Given the description of an element on the screen output the (x, y) to click on. 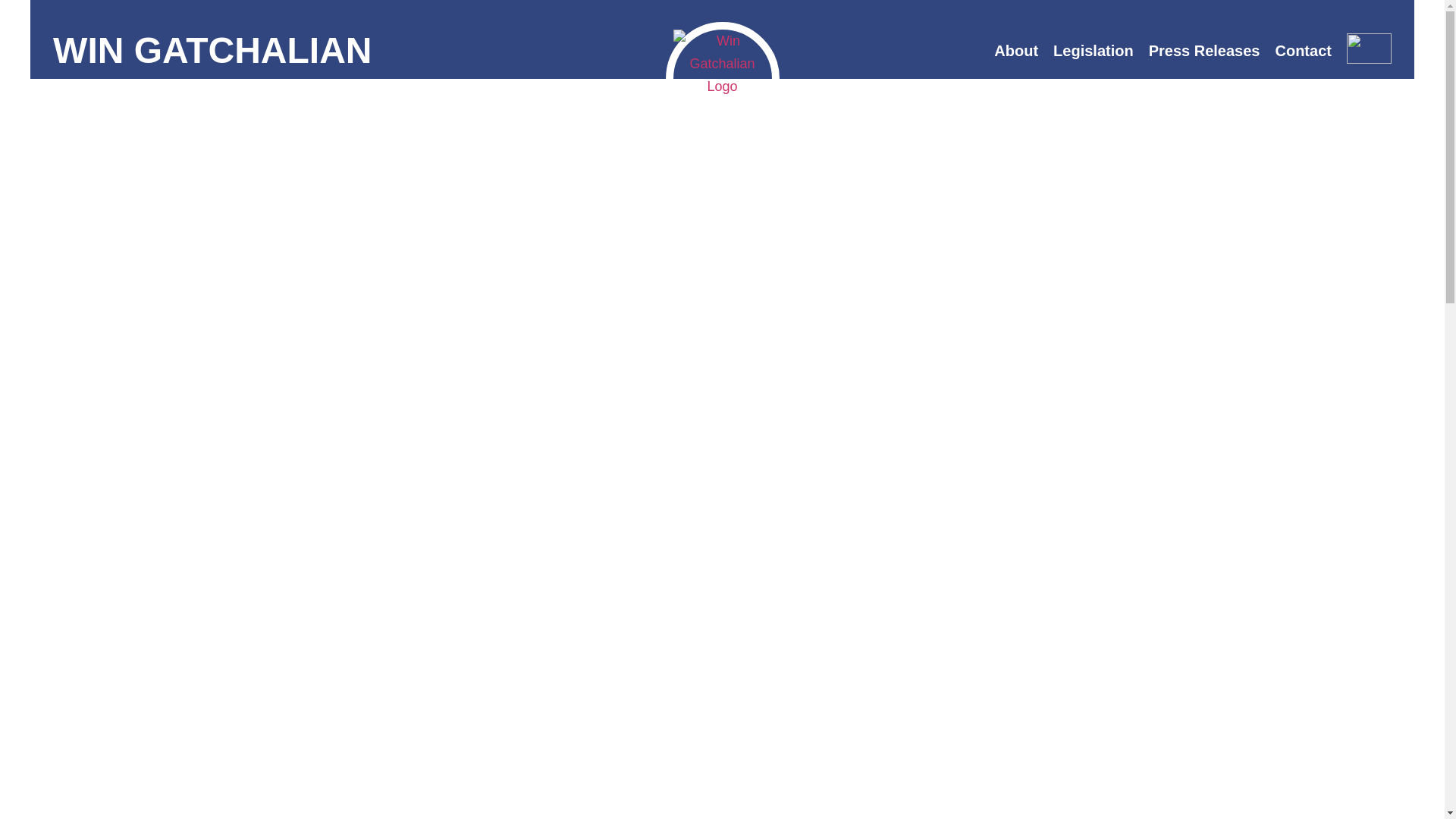
About (1016, 50)
Legislation (1093, 50)
Press Releases (1204, 50)
Contact (1302, 50)
